Given the description of an element on the screen output the (x, y) to click on. 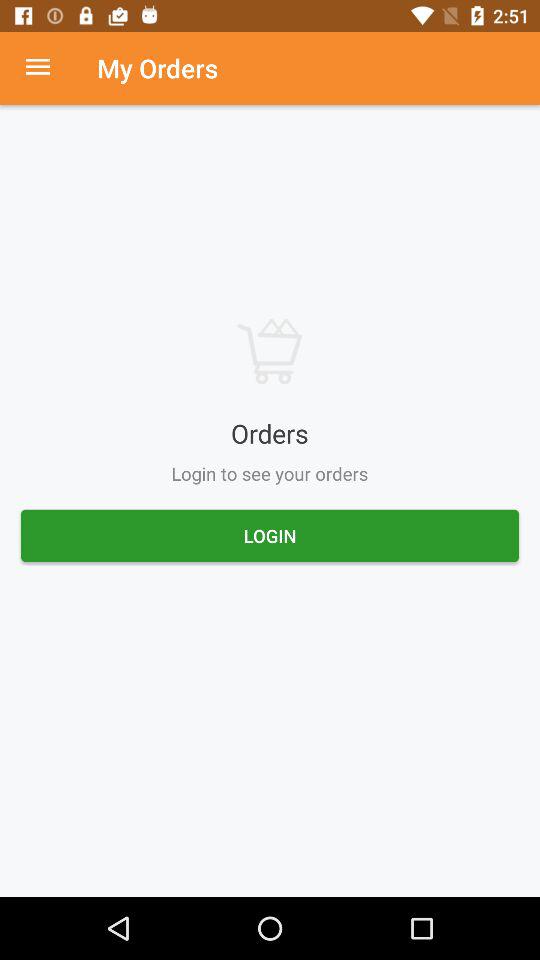
open list view (48, 67)
